Given the description of an element on the screen output the (x, y) to click on. 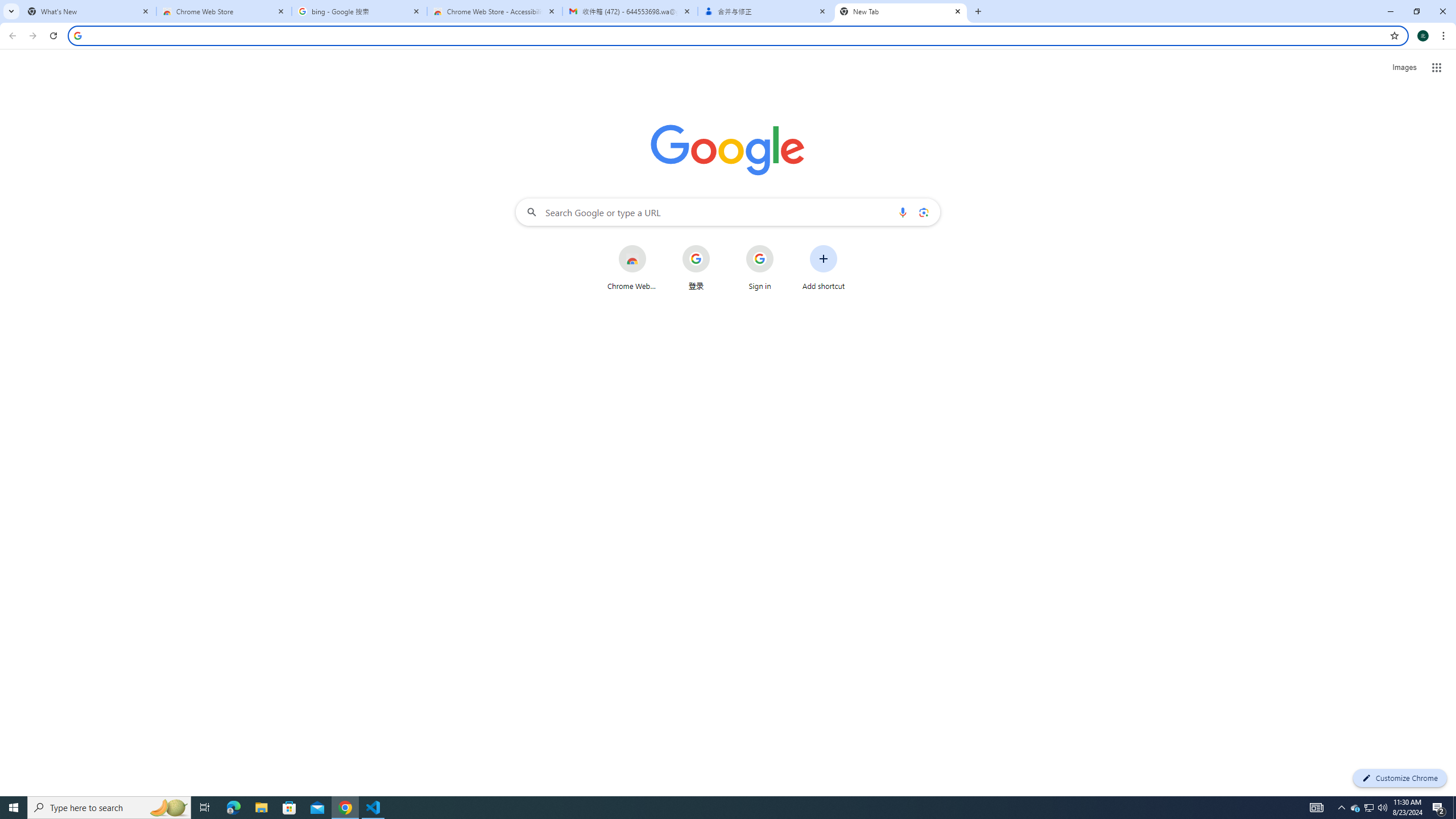
News, row 2 of 5 and column 1 of 3 in the first section (1293, 185)
Maps, row 1 of 5 and column 3 of 3 in the first section (1402, 130)
More actions for Chrome Web Store shortcut (654, 245)
Drive, row 3 of 5 and column 3 of 3 in the first section (1402, 239)
Gmail, row 2 of 5 and column 2 of 3 in the first section (1348, 185)
Account, row 1 of 5 and column 1 of 3 in the first section (1293, 130)
Chrome Web Store - Accessibility (494, 11)
